Given the description of an element on the screen output the (x, y) to click on. 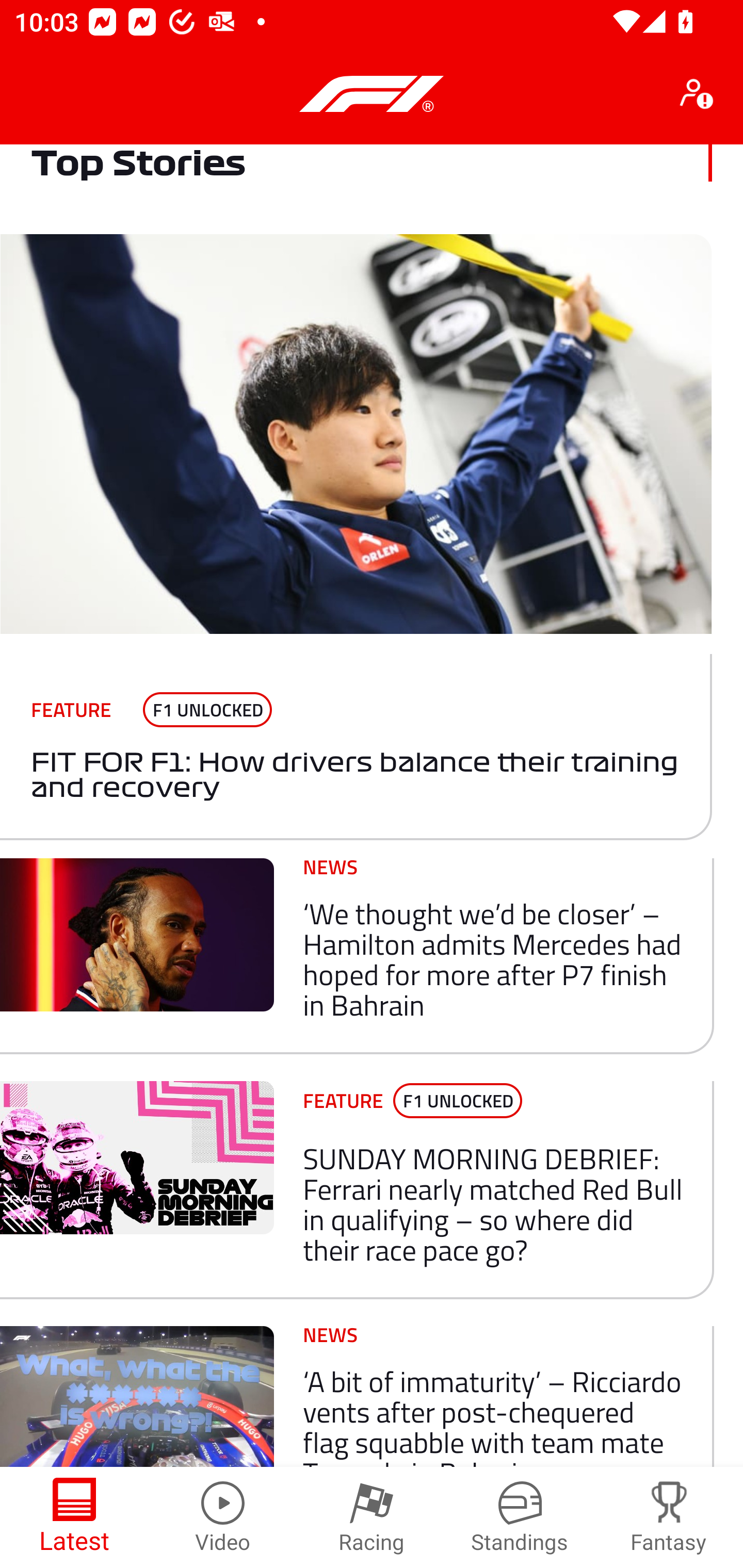
Video (222, 1517)
Racing (371, 1517)
Standings (519, 1517)
Fantasy (668, 1517)
